Given the description of an element on the screen output the (x, y) to click on. 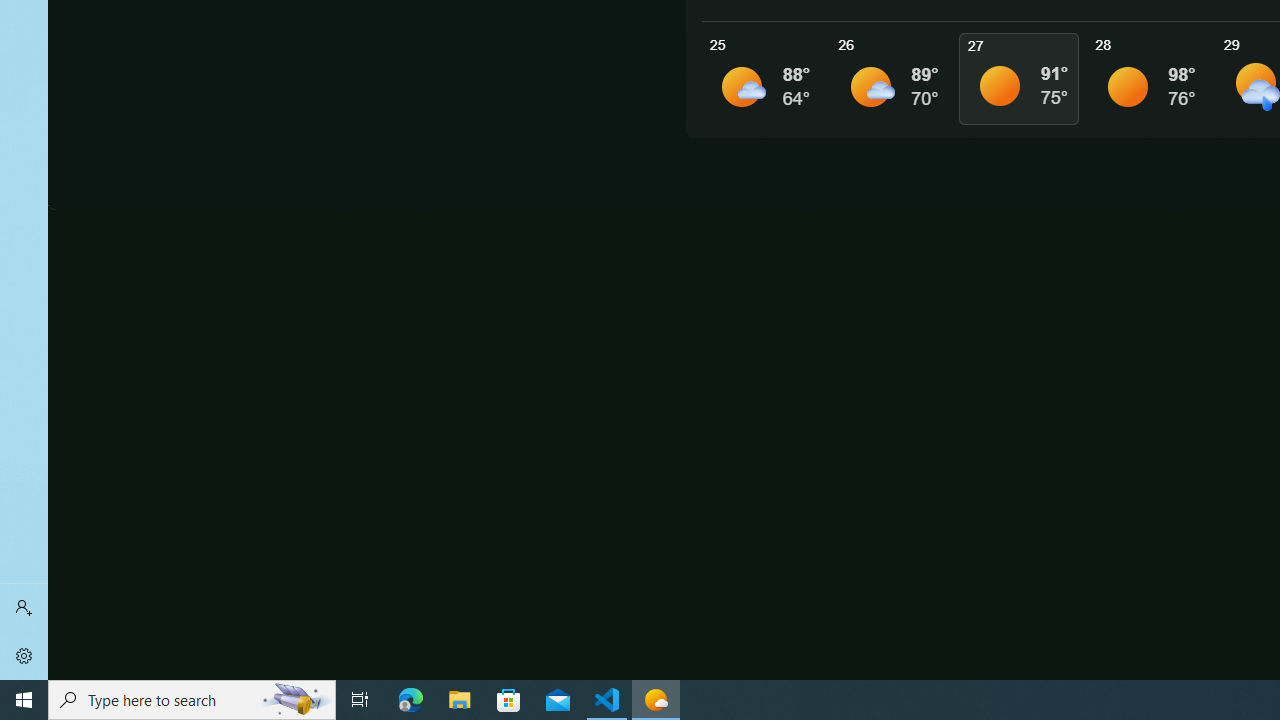
Settings (24, 655)
Sign in (24, 607)
Weather - 1 running window (656, 699)
